Given the description of an element on the screen output the (x, y) to click on. 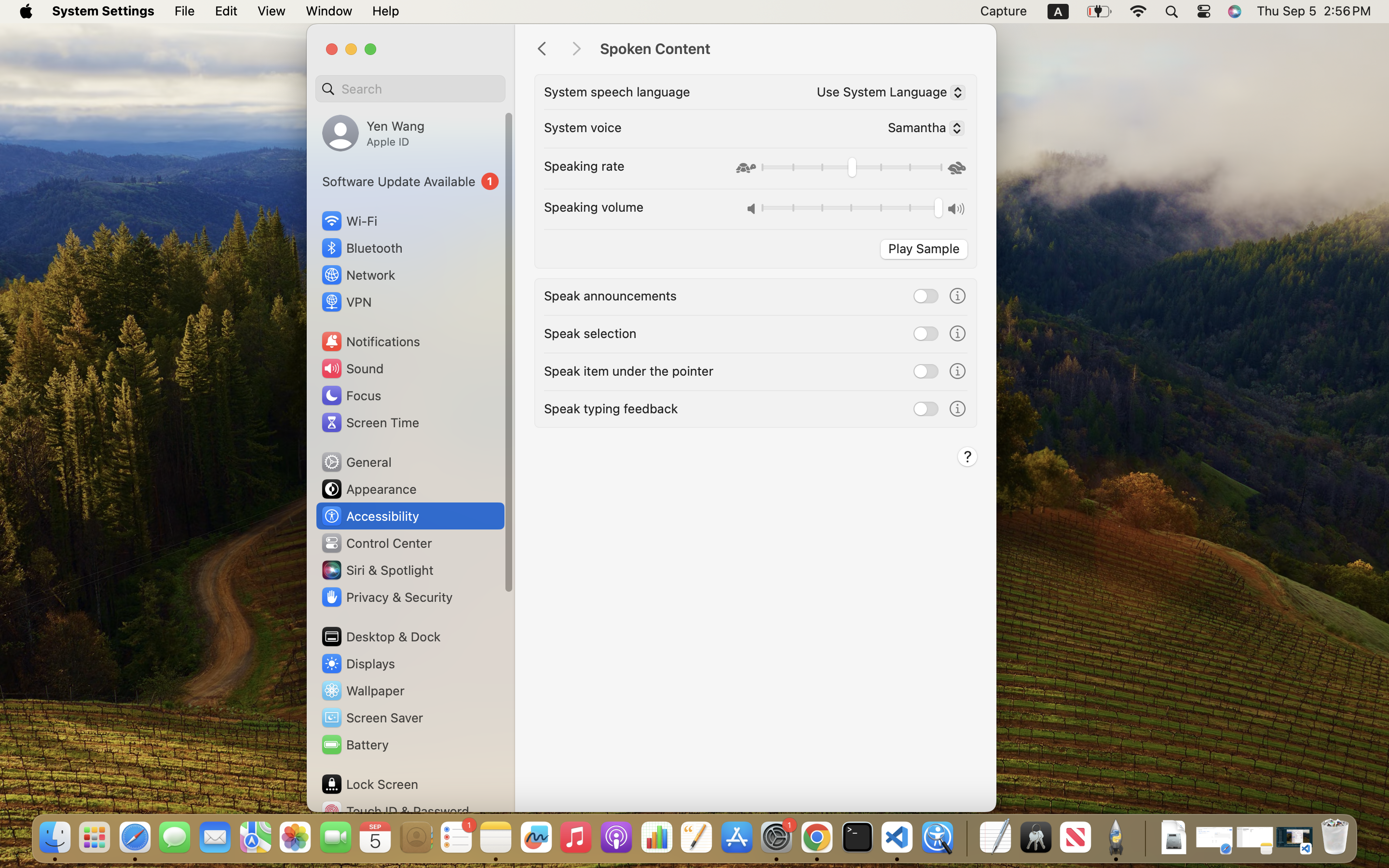
Screen Time Element type: AXStaticText (369, 422)
Yen Wang, Apple ID Element type: AXStaticText (373, 132)
Touch ID & Password Element type: AXStaticText (394, 810)
Wallpaper Element type: AXStaticText (362, 690)
0.4166666567325592 Element type: AXSlider (851, 168)
